Given the description of an element on the screen output the (x, y) to click on. 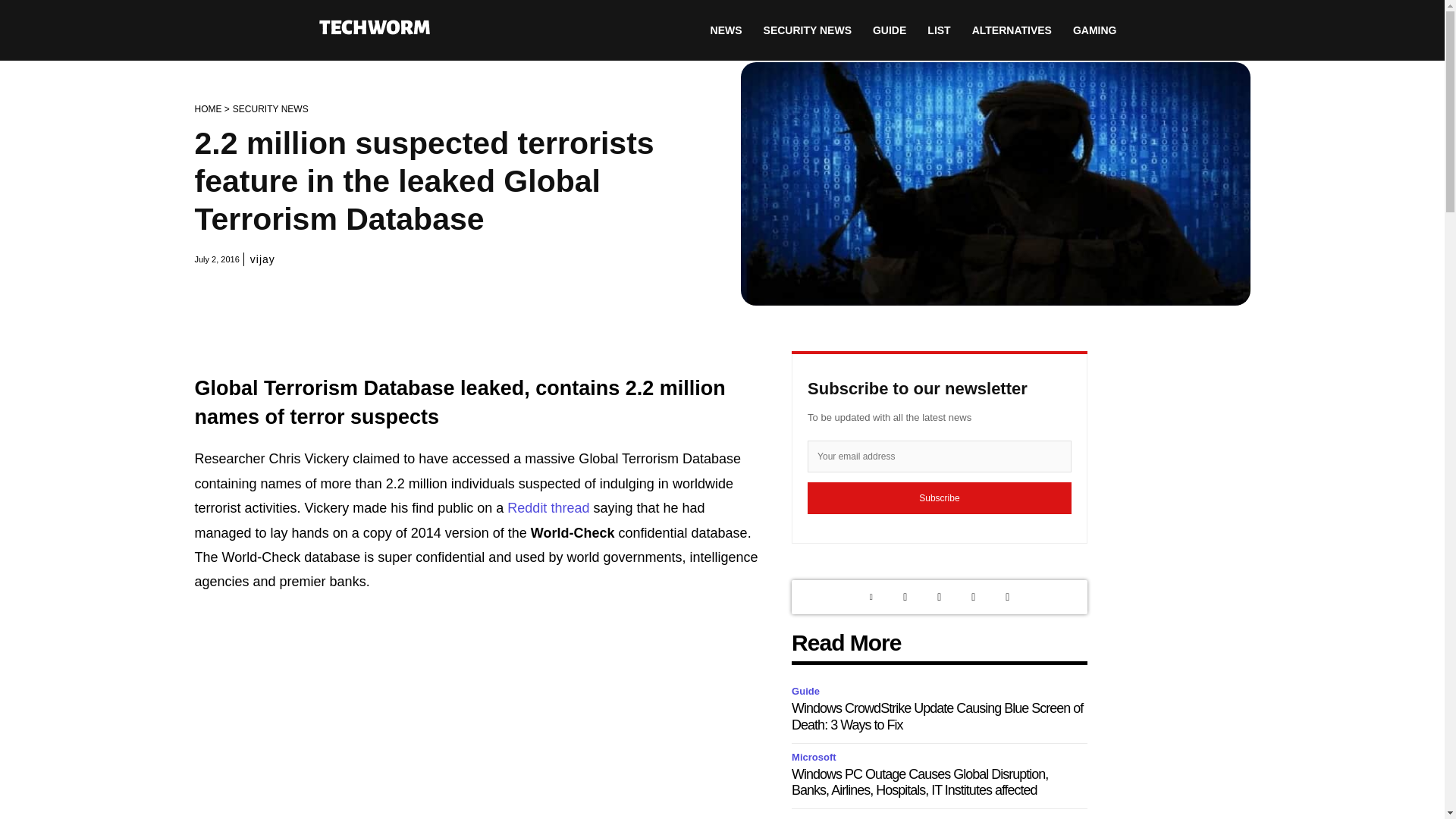
Youtube (1007, 596)
Reddit thread (547, 507)
Cyber Security (829, 816)
GUIDE (889, 30)
GAMING (1094, 30)
ALTERNATIVES (1011, 30)
Subscribe (939, 498)
Twitter (904, 596)
Guide (808, 692)
SECURITY NEWS (806, 30)
Facebook (973, 596)
Instagram (939, 596)
